Given the description of an element on the screen output the (x, y) to click on. 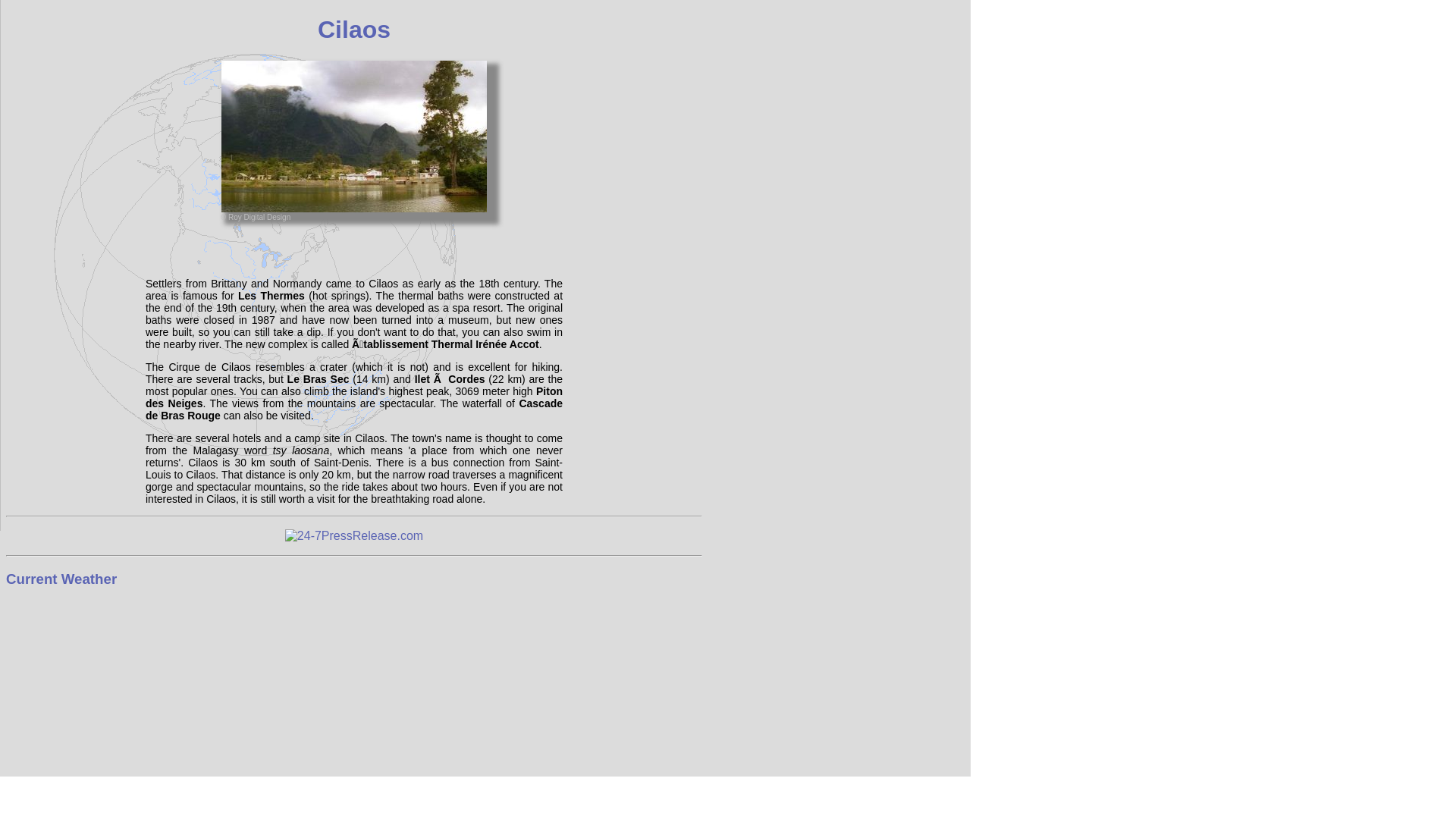
24-7PressRelease.com (354, 535)
